Given the description of an element on the screen output the (x, y) to click on. 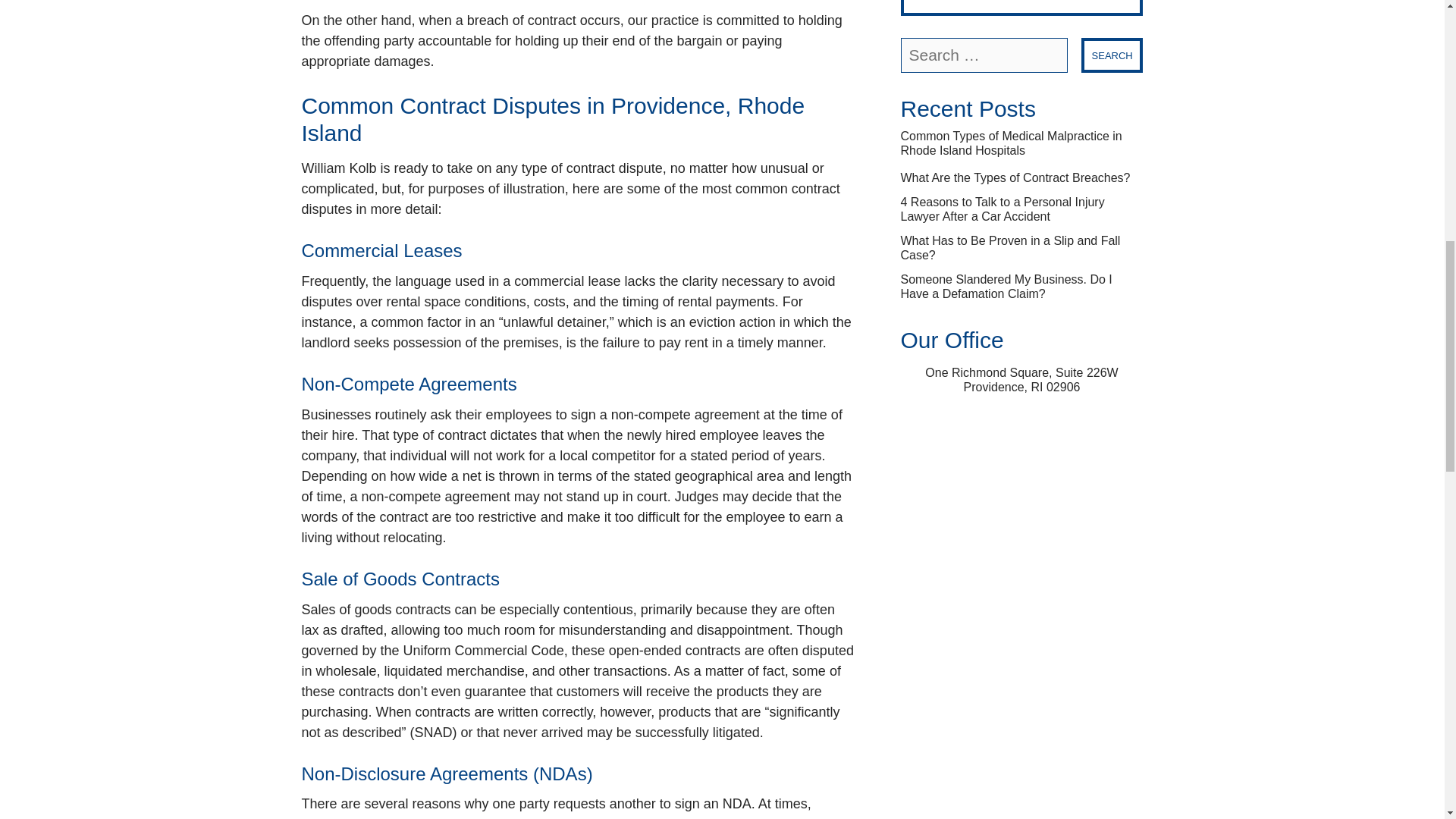
What Has to Be Proven in a Slip and Fall Case? (1021, 247)
SEND YOUR INFORMATION (1021, 7)
What Are the Types of Contract Breaches? (1016, 177)
Search for: (984, 54)
Search (1111, 54)
Someone Slandered My Business. Do I Have a Defamation Claim? (1021, 286)
Search (1111, 54)
Search (1111, 54)
